Given the description of an element on the screen output the (x, y) to click on. 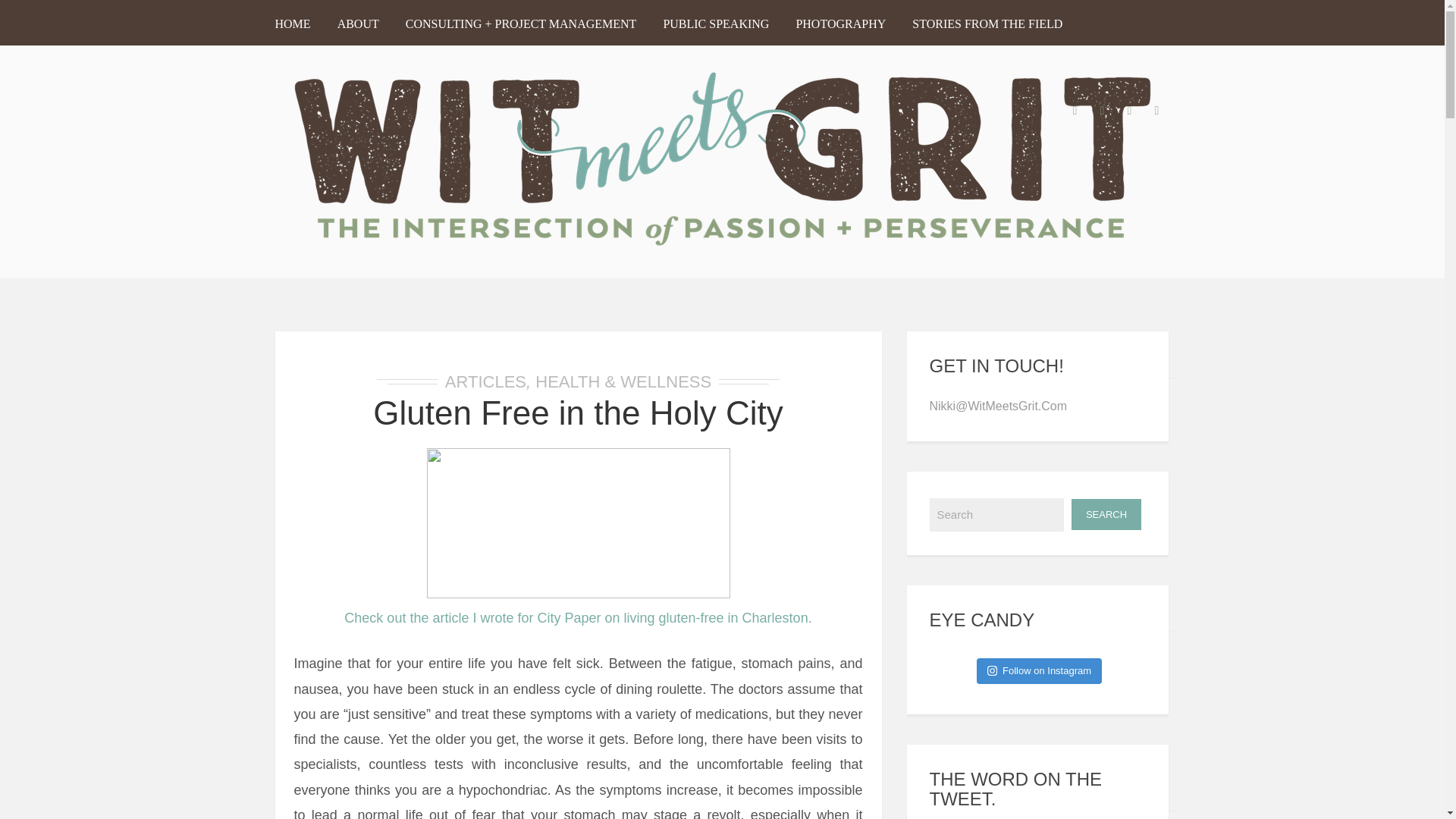
HOME (298, 25)
ABOUT (358, 25)
Search (1106, 513)
Permanent Link to Gluten Free in the Holy City (577, 412)
Search (997, 514)
